Given the description of an element on the screen output the (x, y) to click on. 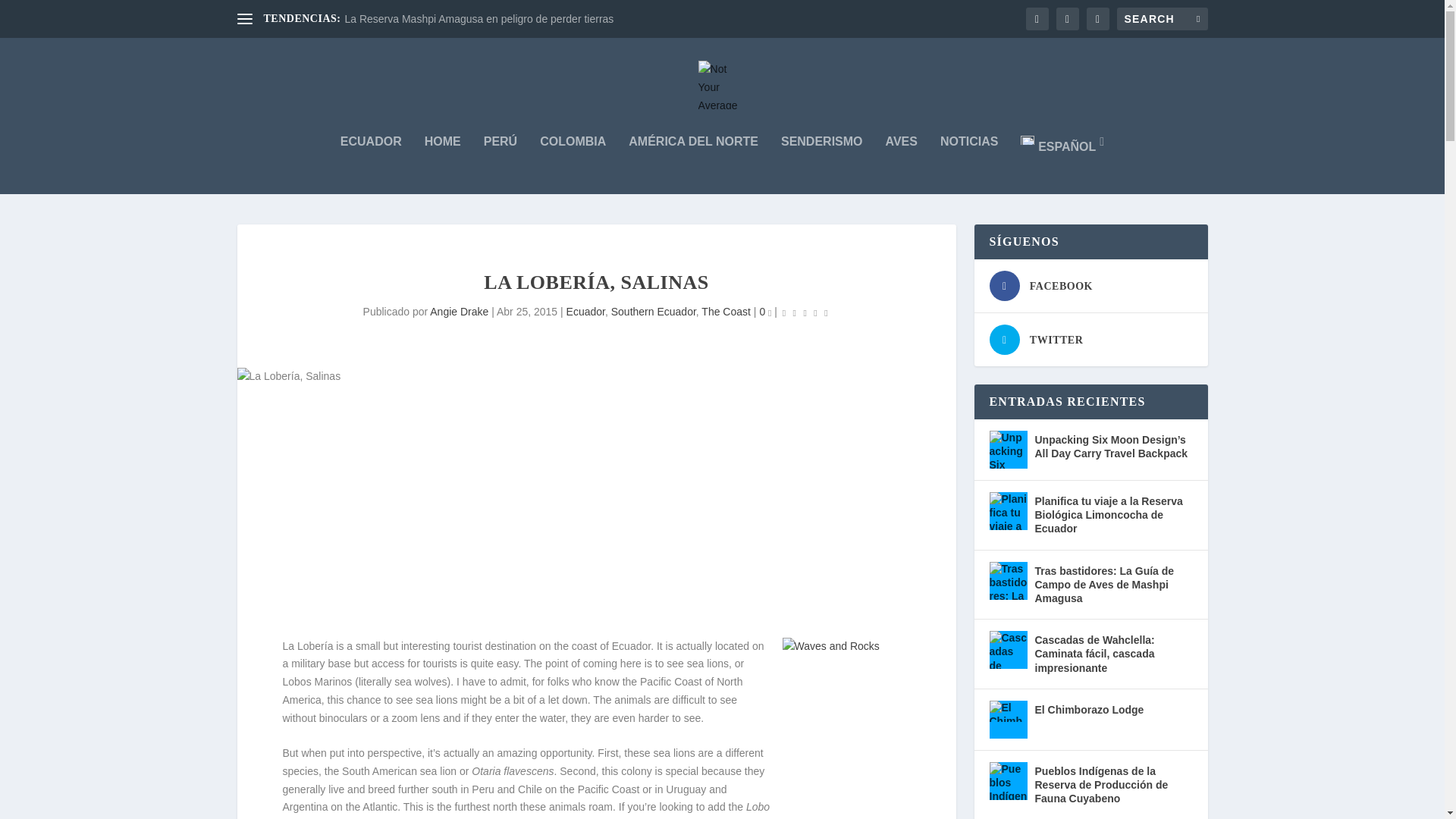
0 (764, 311)
The Coast (726, 311)
COLOMBIA (572, 162)
Angie Drake (458, 311)
Publicado por Angie Drake (458, 311)
ECUADOR (370, 162)
SENDERISMO (821, 162)
Ecuador (585, 311)
La Reserva Mashpi Amagusa en peligro de perder tierras (477, 19)
NOTICIAS (968, 162)
